Given the description of an element on the screen output the (x, y) to click on. 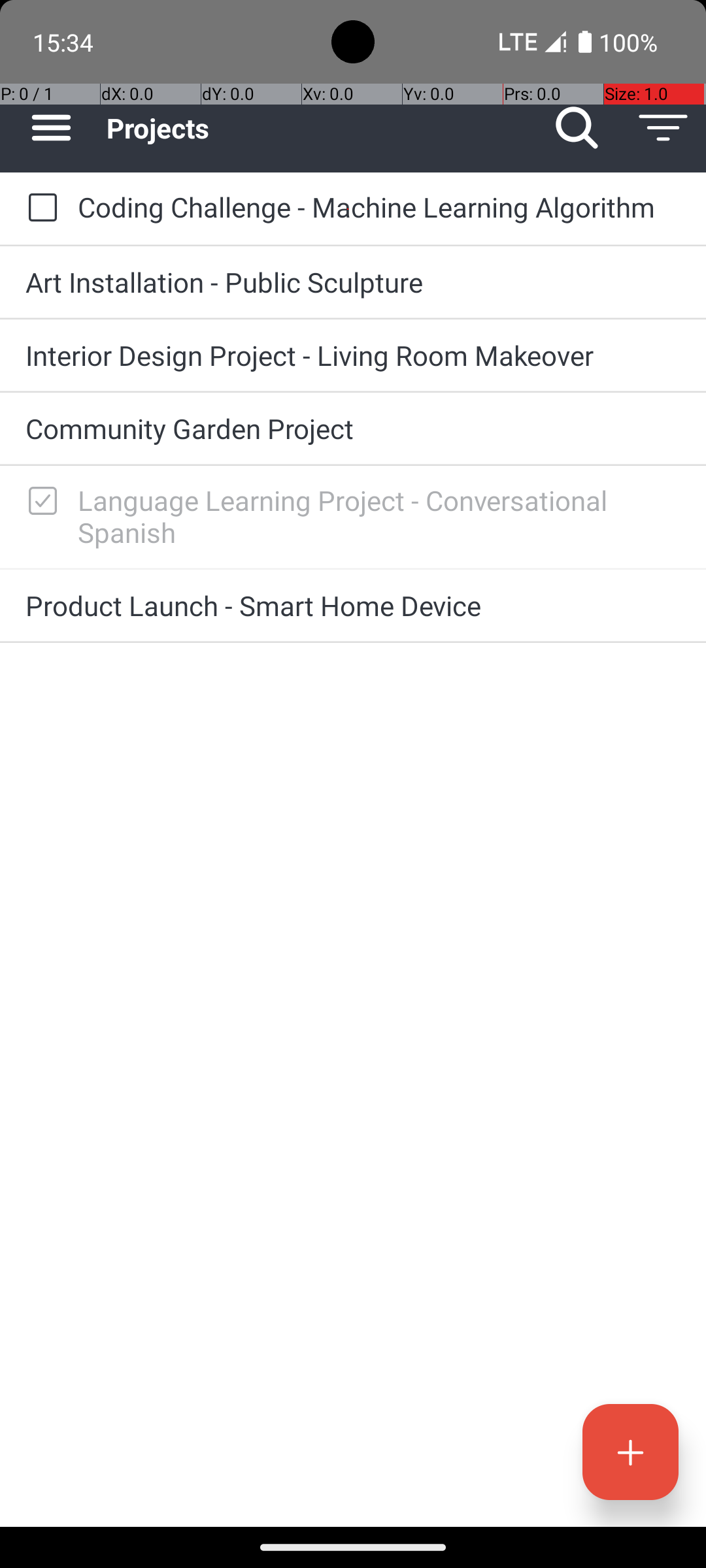
to-do: Coding Challenge - Machine Learning Algorithm Element type: android.widget.CheckBox (38, 208)
Coding Challenge - Machine Learning Algorithm Element type: android.widget.TextView (378, 206)
Art Installation - Public Sculpture Element type: android.widget.TextView (352, 281)
Interior Design Project - Living Room Makeover Element type: android.widget.TextView (352, 354)
Community Garden Project Element type: android.widget.TextView (352, 427)
to-do: Language Learning Project - Conversational Spanish Element type: android.widget.CheckBox (38, 501)
Language Learning Project - Conversational Spanish Element type: android.widget.TextView (378, 515)
Product Launch - Smart Home Device Element type: android.widget.TextView (352, 604)
